Given the description of an element on the screen output the (x, y) to click on. 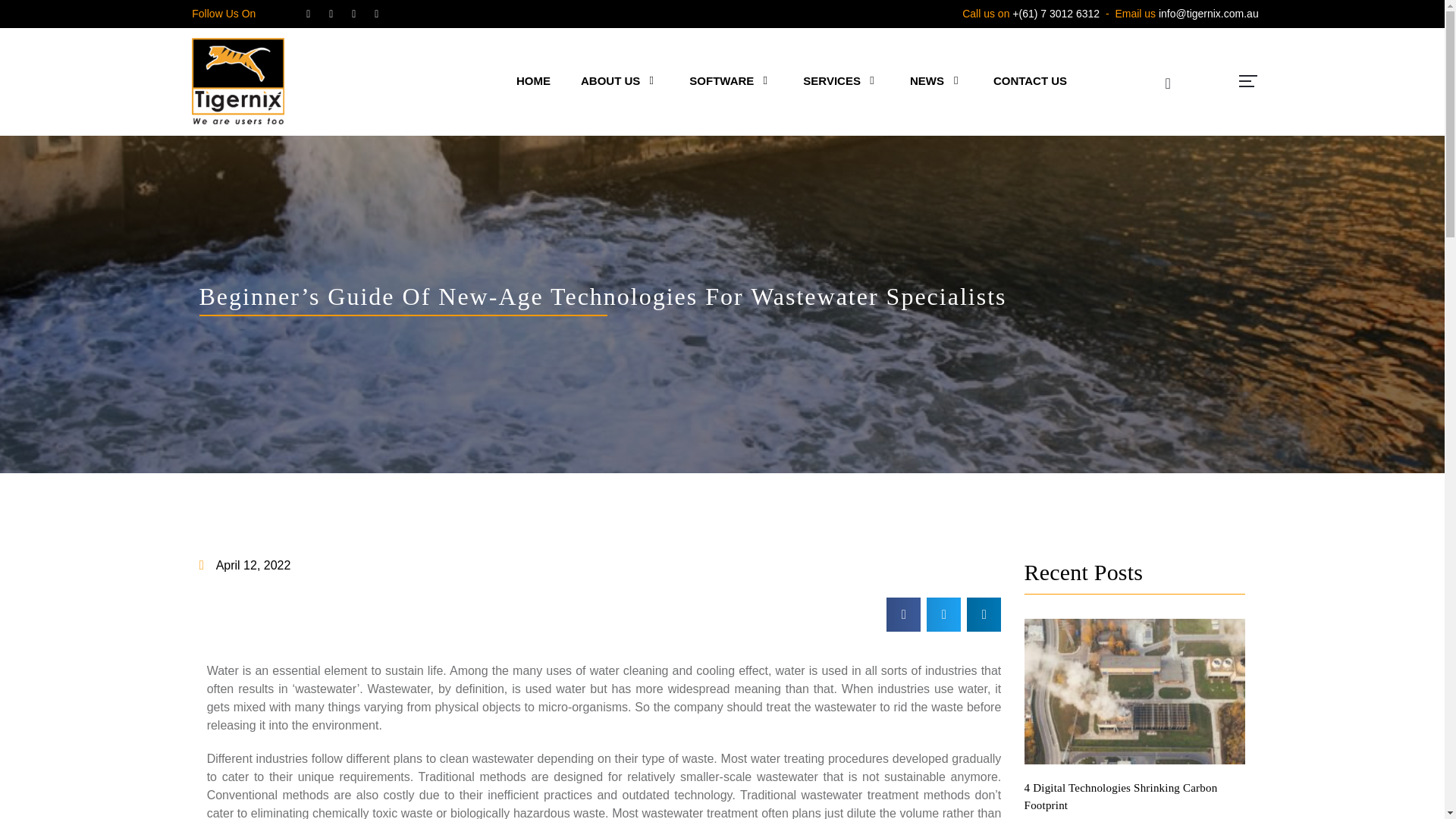
SOFTWARE (722, 81)
ABOUT US (611, 81)
HOME (533, 81)
